Given the description of an element on the screen output the (x, y) to click on. 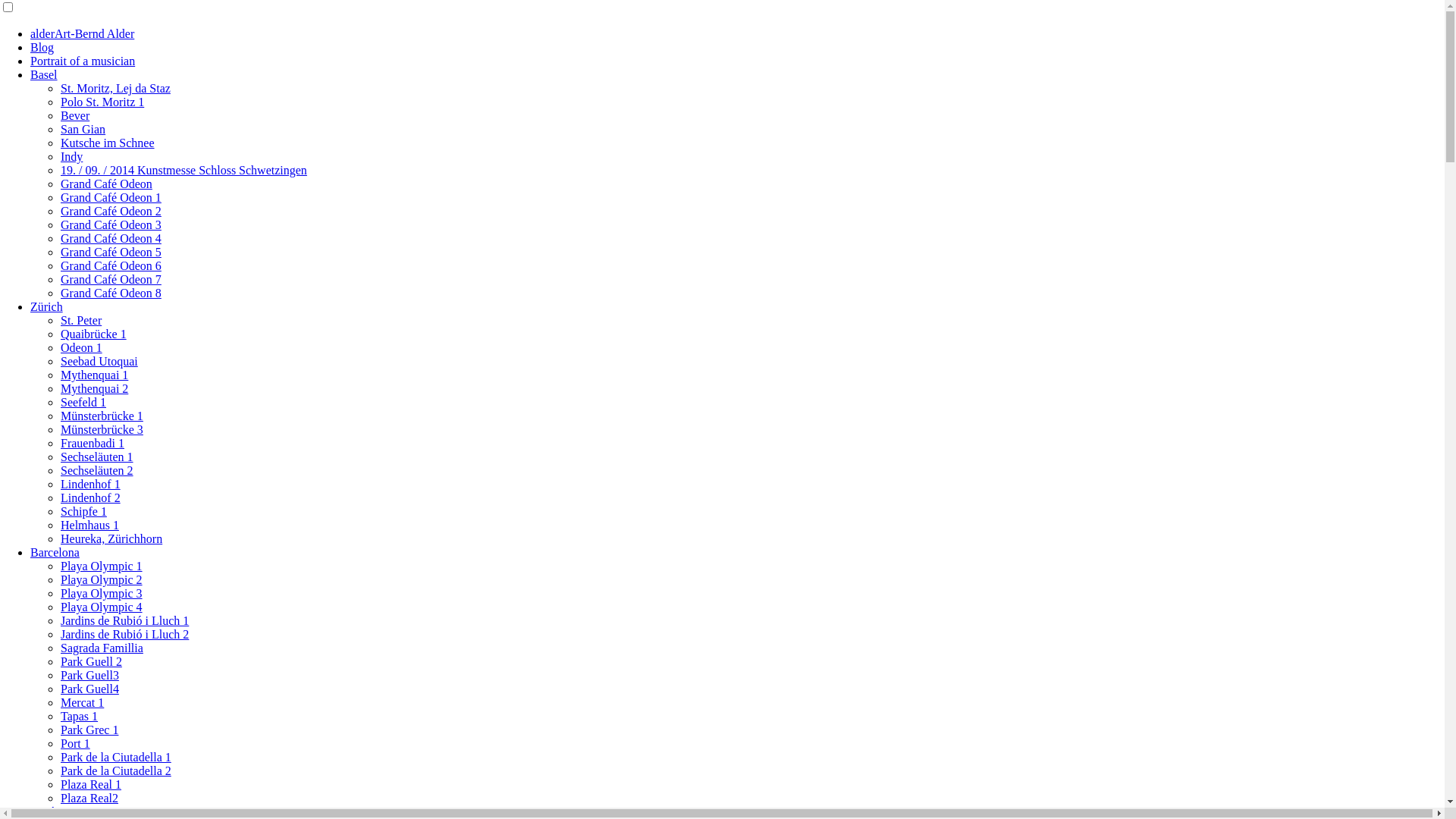
Plaza Real2 Element type: text (89, 797)
Port 1 Element type: text (75, 743)
Plaza Real 1 Element type: text (90, 784)
Indy Element type: text (71, 156)
Portrait of a musician Element type: text (82, 60)
Park Grec 1 Element type: text (89, 729)
Lindenhof 2 Element type: text (90, 497)
Blog Element type: text (41, 46)
Playa Olympic 1 Element type: text (101, 565)
Helmhaus 1 Element type: text (89, 524)
San Gian Element type: text (82, 128)
Frauenbadi 1 Element type: text (92, 442)
Mythenquai 2 Element type: text (94, 388)
Seefeld 1 Element type: text (83, 401)
Odeon 1 Element type: text (81, 347)
Playa Olympic 2 Element type: text (101, 579)
Basel Element type: text (43, 74)
Bever Element type: text (74, 115)
Barcelona Element type: text (54, 552)
Seebad Utoquai Element type: text (99, 360)
Playa Olympic 3 Element type: text (101, 592)
Polo St. Moritz 1 Element type: text (102, 101)
Lindenhof 1 Element type: text (90, 483)
St. Peter Element type: text (80, 319)
Playa Olympic 4 Element type: text (101, 606)
Sagrada Famillia Element type: text (101, 647)
Tapas 1 Element type: text (78, 715)
Mythenquai 1 Element type: text (94, 374)
Park de la Ciutadella 1 Element type: text (115, 756)
St. Moritz, Lej da Staz Element type: text (115, 87)
Park Guell4 Element type: text (89, 688)
Park Guell3 Element type: text (89, 674)
Kutsche im Schnee Element type: text (107, 142)
Schipfe 1 Element type: text (83, 511)
Park Guell 2 Element type: text (91, 661)
Mercat 1 Element type: text (81, 702)
19. / 09. / 2014 Kunstmesse Schloss Schwetzingen Element type: text (183, 169)
Park de la Ciutadella 2 Element type: text (115, 770)
alderArt-Bernd Alder Element type: text (82, 33)
